Given the description of an element on the screen output the (x, y) to click on. 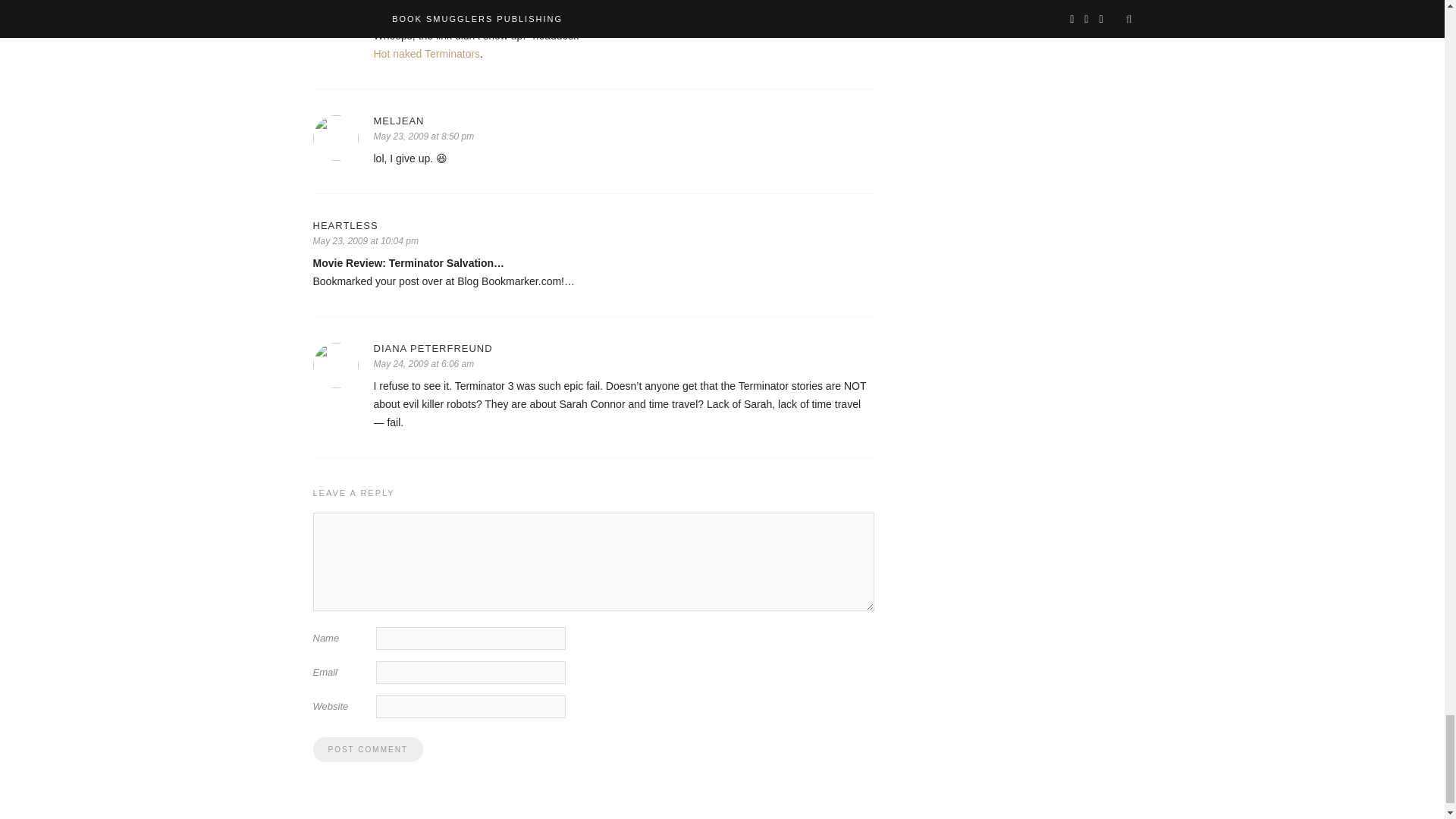
Post Comment (367, 749)
HEARTLESS (593, 225)
MELJEAN (622, 120)
Hot naked Terminators (426, 53)
DIANA PETERFREUND (622, 348)
